Given the description of an element on the screen output the (x, y) to click on. 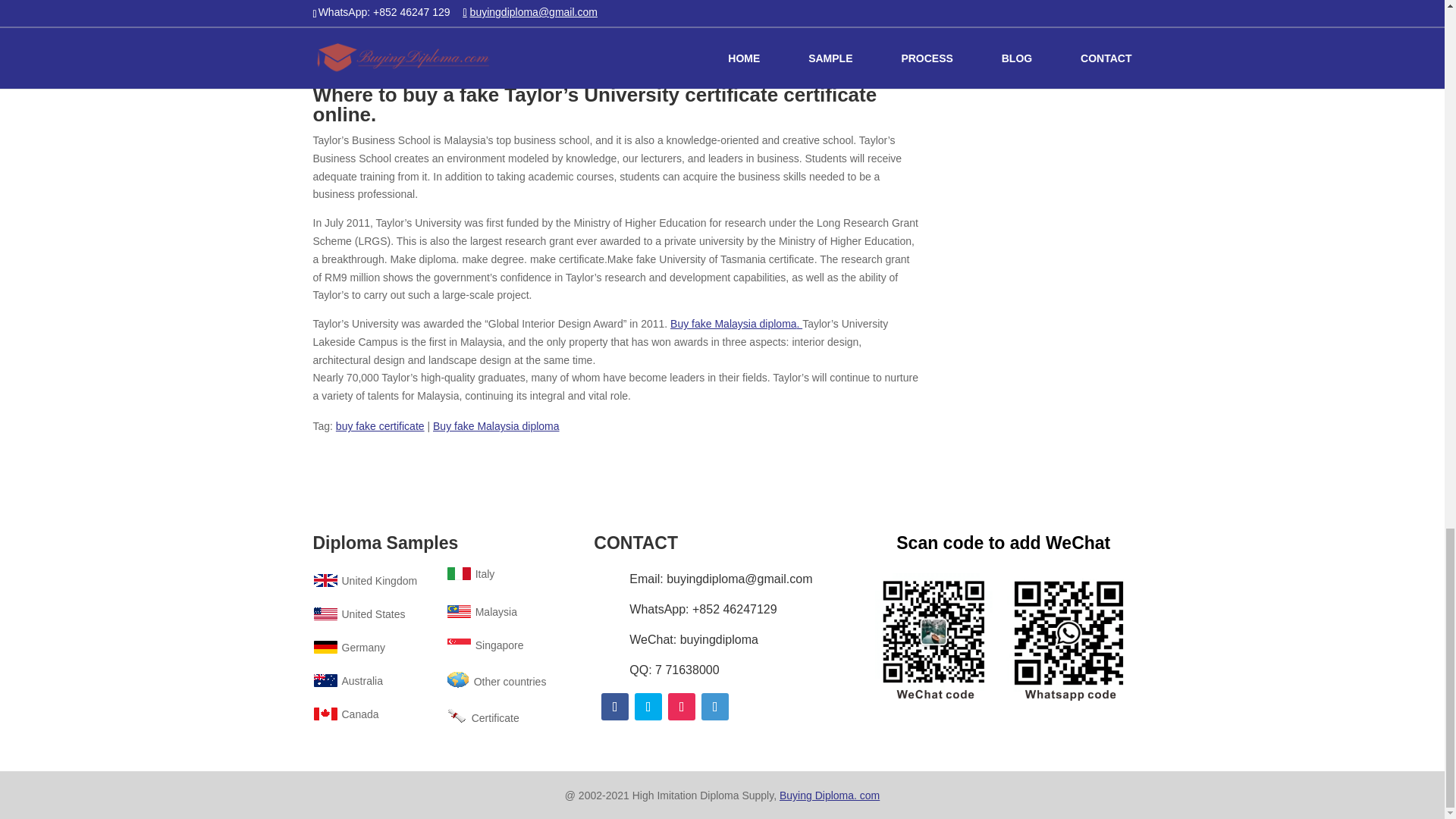
Wecha-code (1003, 636)
buy fake certificate (380, 426)
Follow on QQ (715, 706)
Follow on Twitter (648, 706)
Buy fake Malaysia diploma. (735, 323)
Follow on Instagram (681, 706)
Follow on Facebook (614, 706)
Buy fake Malaysia diploma (495, 426)
How to buy a fake McGill University diploma (613, 8)
United Kingdom (364, 581)
